Given the description of an element on the screen output the (x, y) to click on. 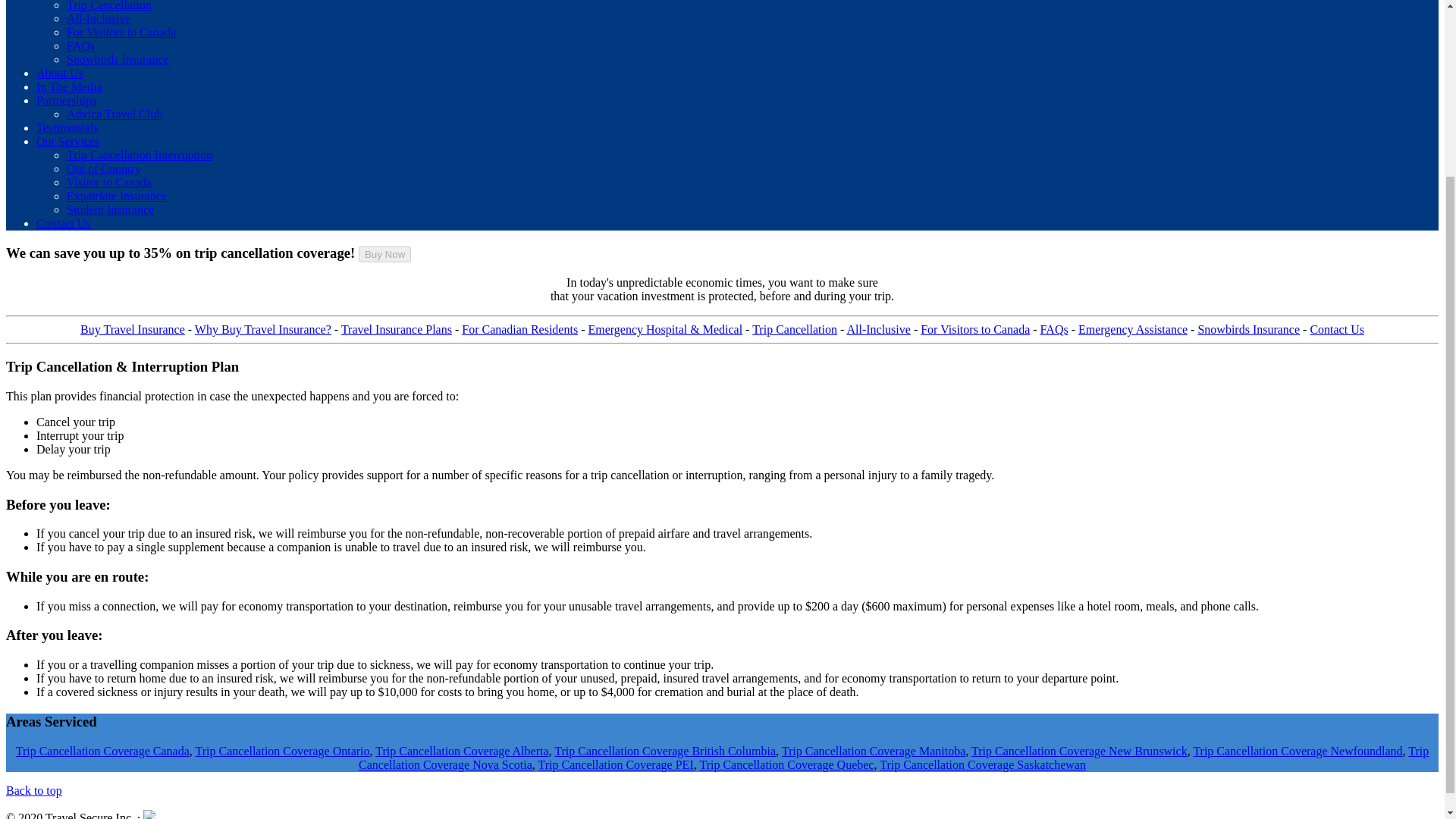
Buy Travel Insurance (132, 328)
Student Insurance (110, 209)
Snowbirds Insurance (1248, 328)
About Us (59, 72)
For Visitors to Canada (974, 328)
Trip Cancellation (108, 5)
Trip Cancellation Interruption (139, 154)
Our Services (67, 141)
In The Media (68, 86)
Trip Cancellation (794, 328)
Emergency Assistance (1133, 328)
FAQs (80, 45)
Contact Us (63, 223)
Visitor to Canada (108, 182)
Testimonials (67, 127)
